Given the description of an element on the screen output the (x, y) to click on. 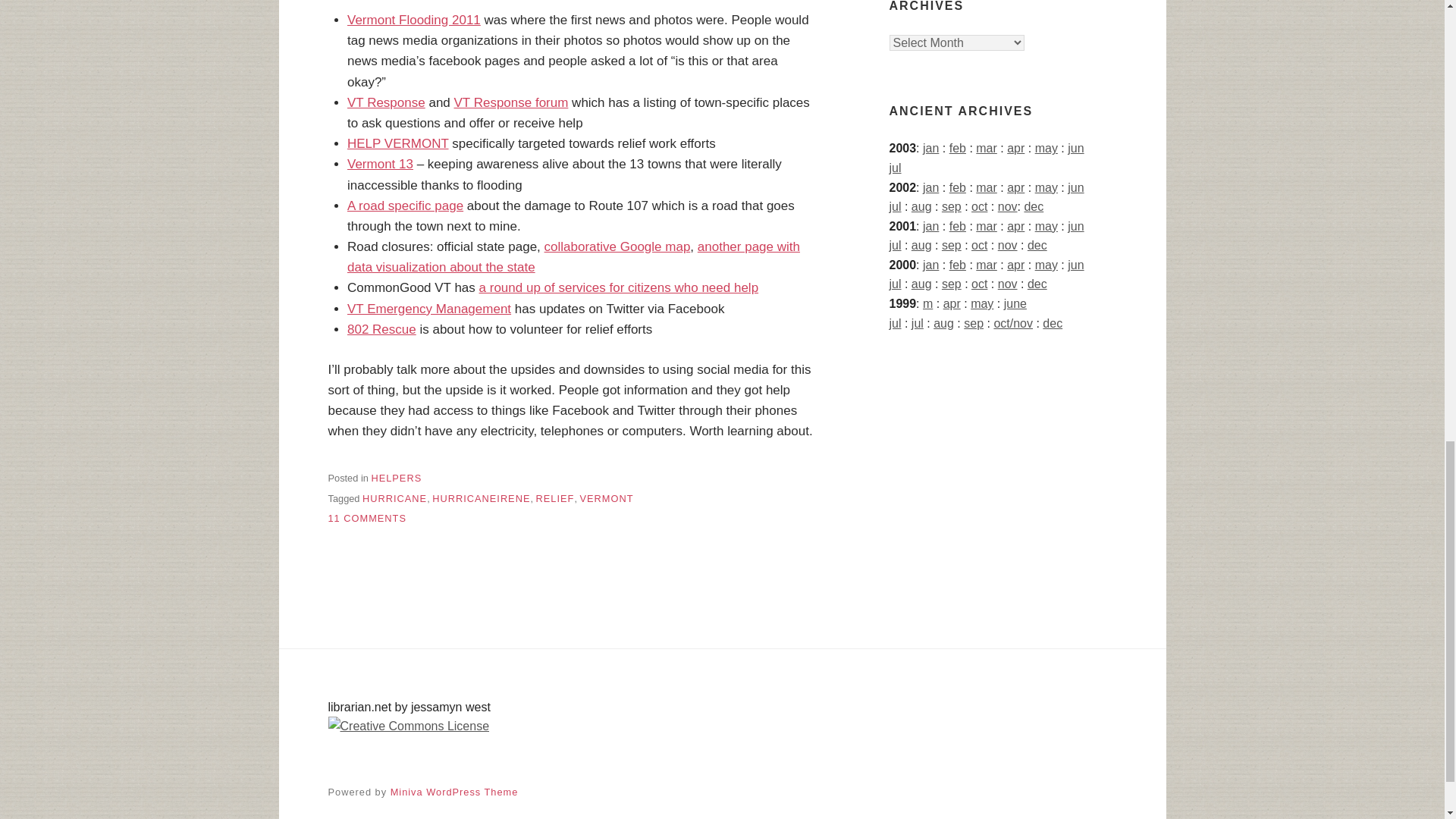
HURRICANEIRENE (480, 498)
A road specific page (405, 205)
a round up of services for citizens who need help (618, 287)
802 Rescue (366, 518)
collaborative Google map (381, 329)
VT Emergency Management (617, 246)
HELPERS (429, 309)
another page with data visualization about the state (396, 478)
HELP VERMONT (573, 256)
